Given the description of an element on the screen output the (x, y) to click on. 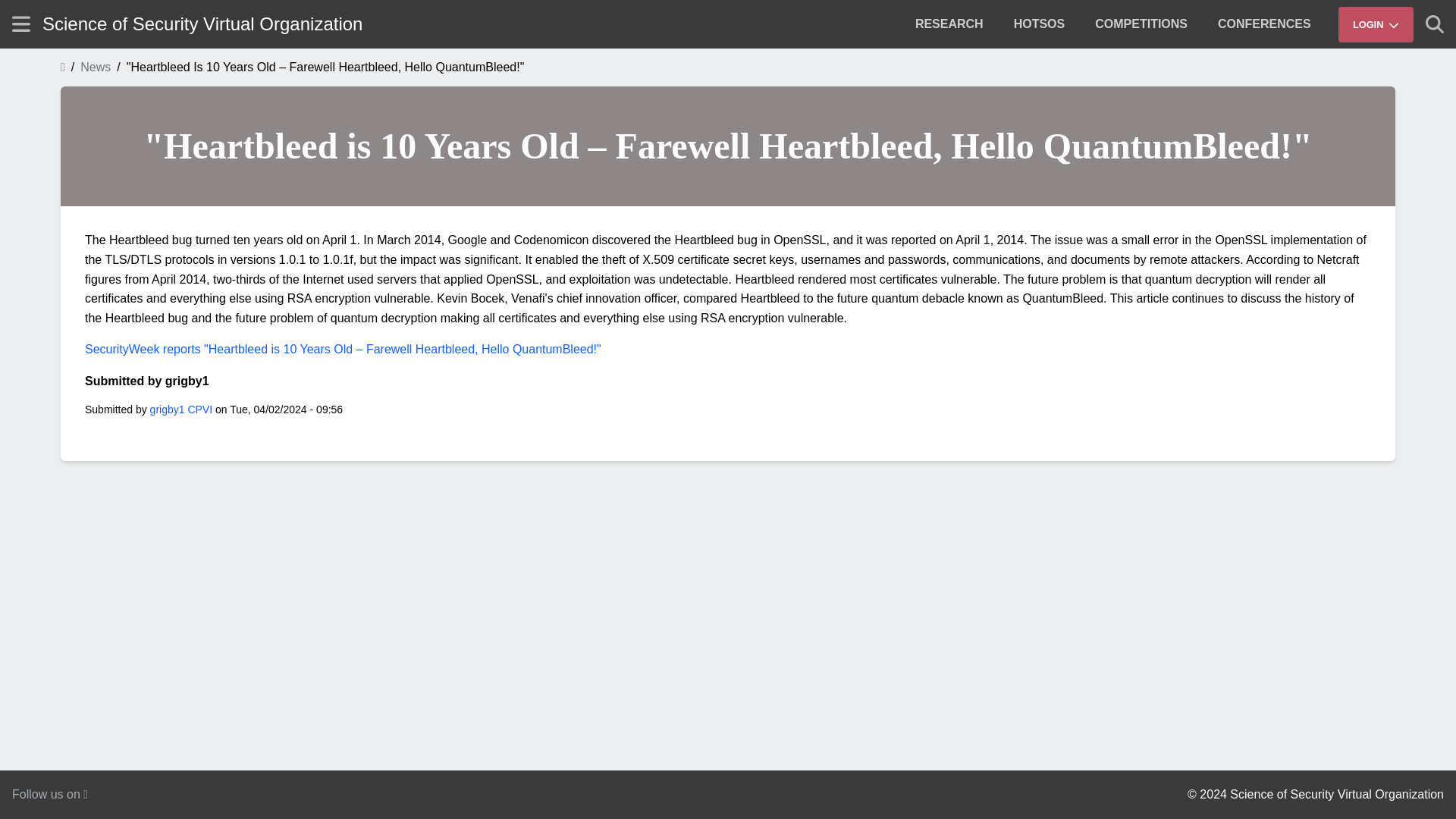
LOGIN (1375, 23)
SUBMIT (1401, 66)
Follow us on (49, 793)
grigby1 CPVI (180, 409)
Not a member? (1301, 54)
Science of Security Virtual Organization (202, 23)
View user profile. (180, 409)
HOTSOS (1039, 24)
News (95, 67)
